Given the description of an element on the screen output the (x, y) to click on. 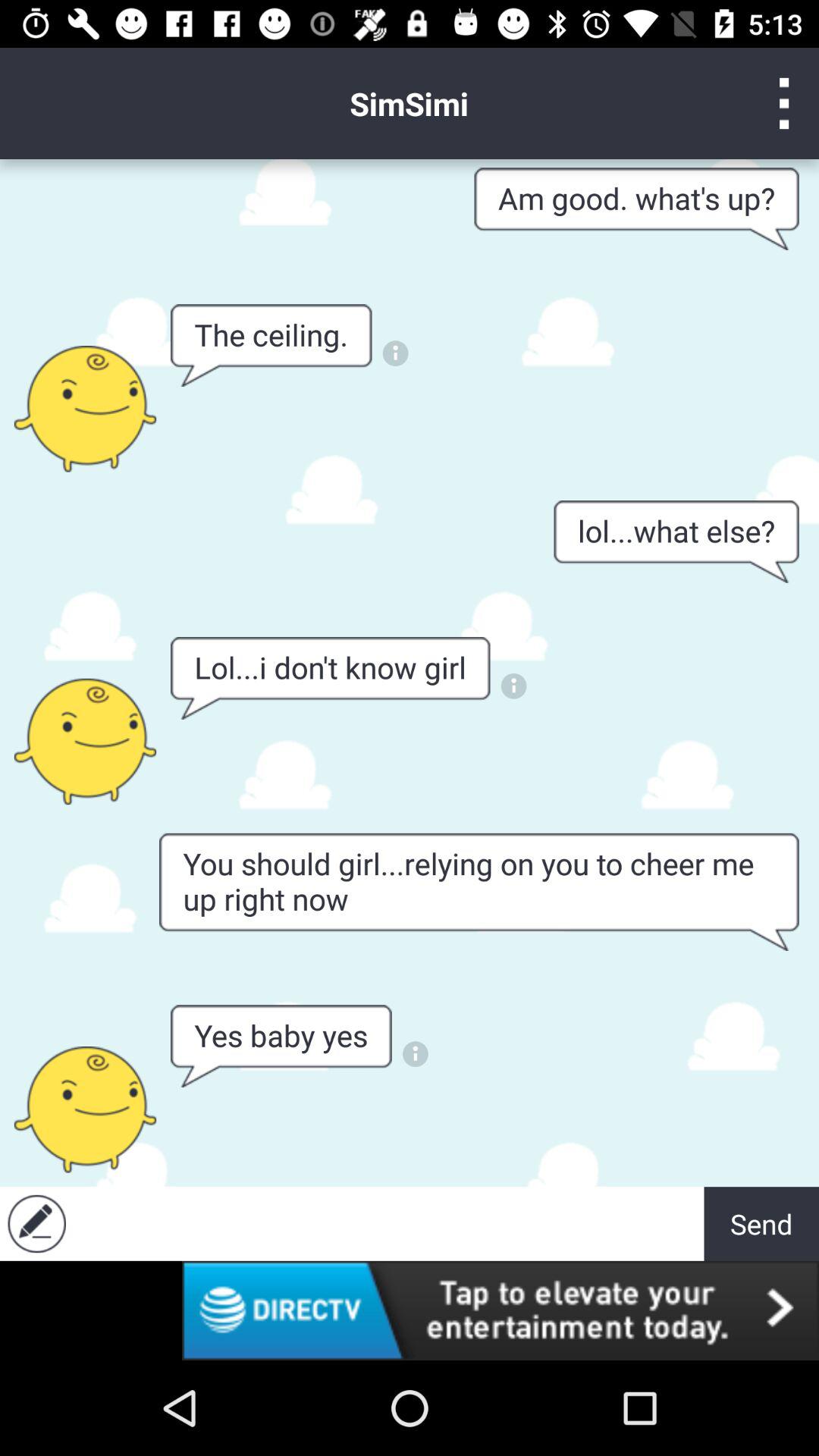
see info (415, 1054)
